Given the description of an element on the screen output the (x, y) to click on. 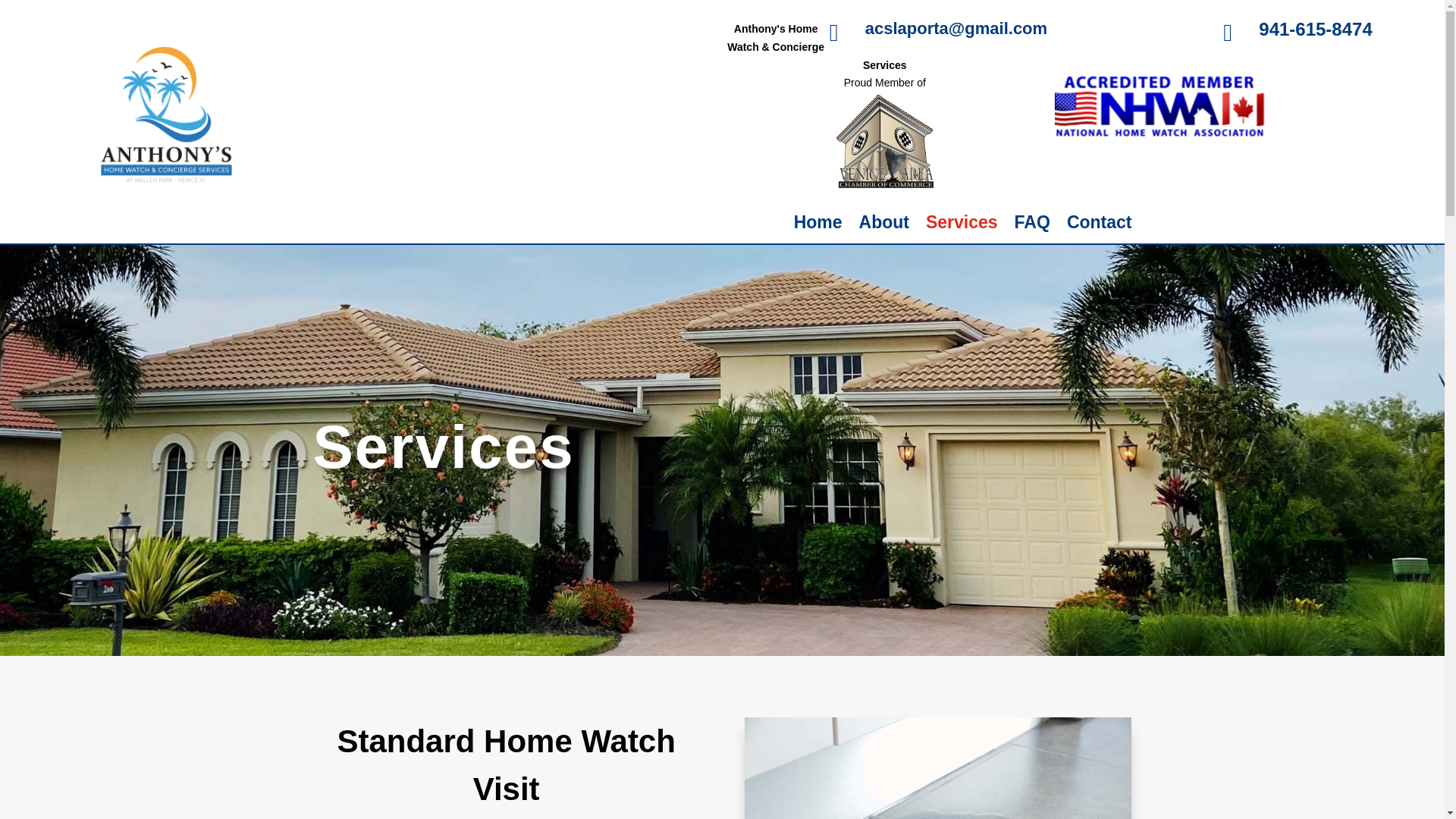
FAQ (1031, 225)
About (883, 225)
AHCS Logo Color clear (165, 114)
Contact (1099, 225)
Home (818, 225)
Close-up,Photo,Of,Flooded,Floor,In,Kitchen,From,Water,Leak (937, 768)
Services (961, 225)
Venice Area Chamber of Commerce (884, 141)
941-615-8474 (1315, 28)
